Given the description of an element on the screen output the (x, y) to click on. 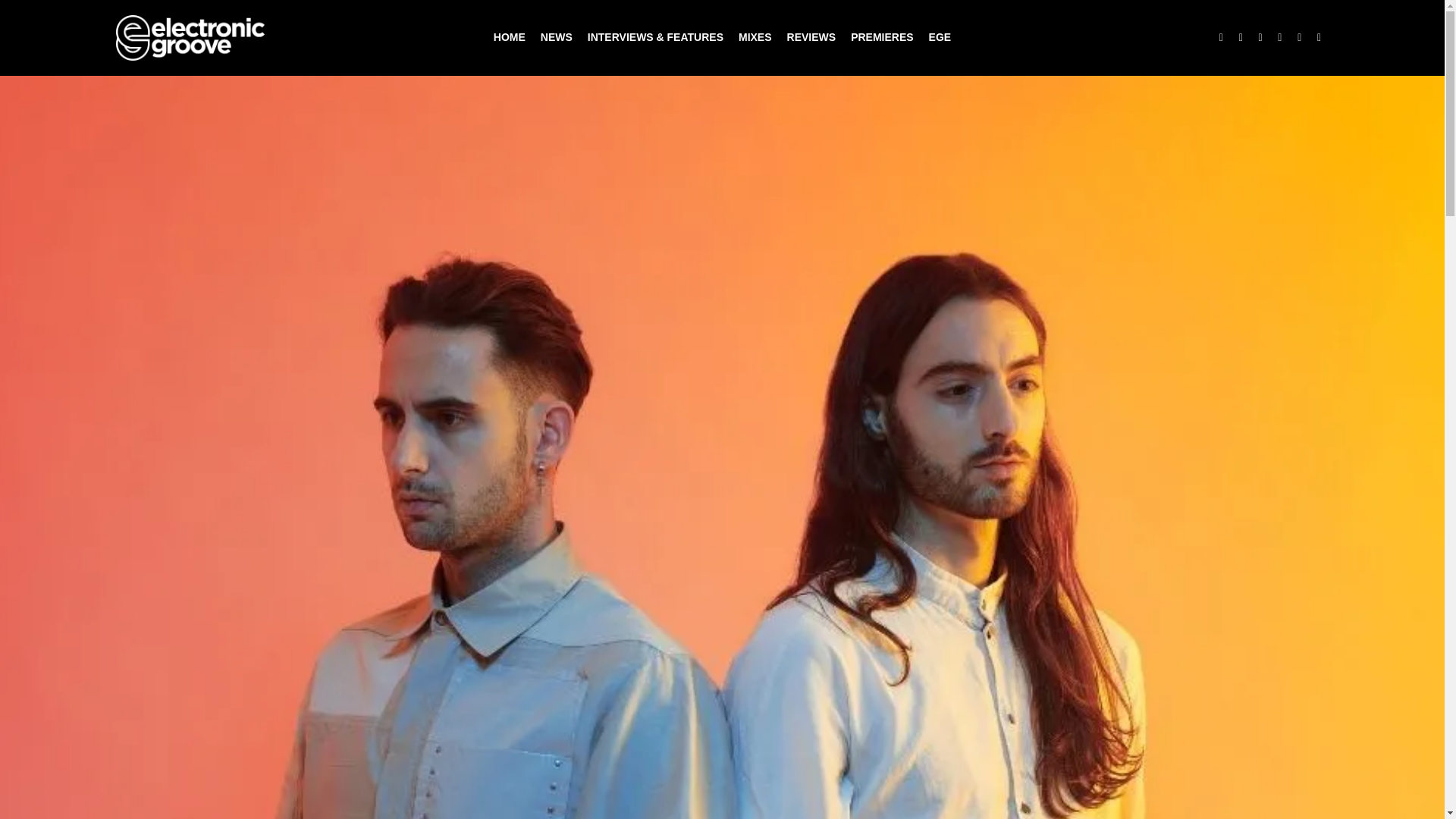
EGE (940, 37)
YouTube (1279, 37)
Spotify (1318, 37)
Instagram (1259, 37)
PREMIERES (881, 37)
YouTube (1279, 37)
Spotify (1318, 37)
Email (1299, 37)
Email (1299, 37)
REVIEWS (811, 37)
Facebook (1240, 37)
Facebook (1240, 37)
NEWS (555, 37)
Instagram (1259, 37)
HOME (509, 37)
